Given the description of an element on the screen output the (x, y) to click on. 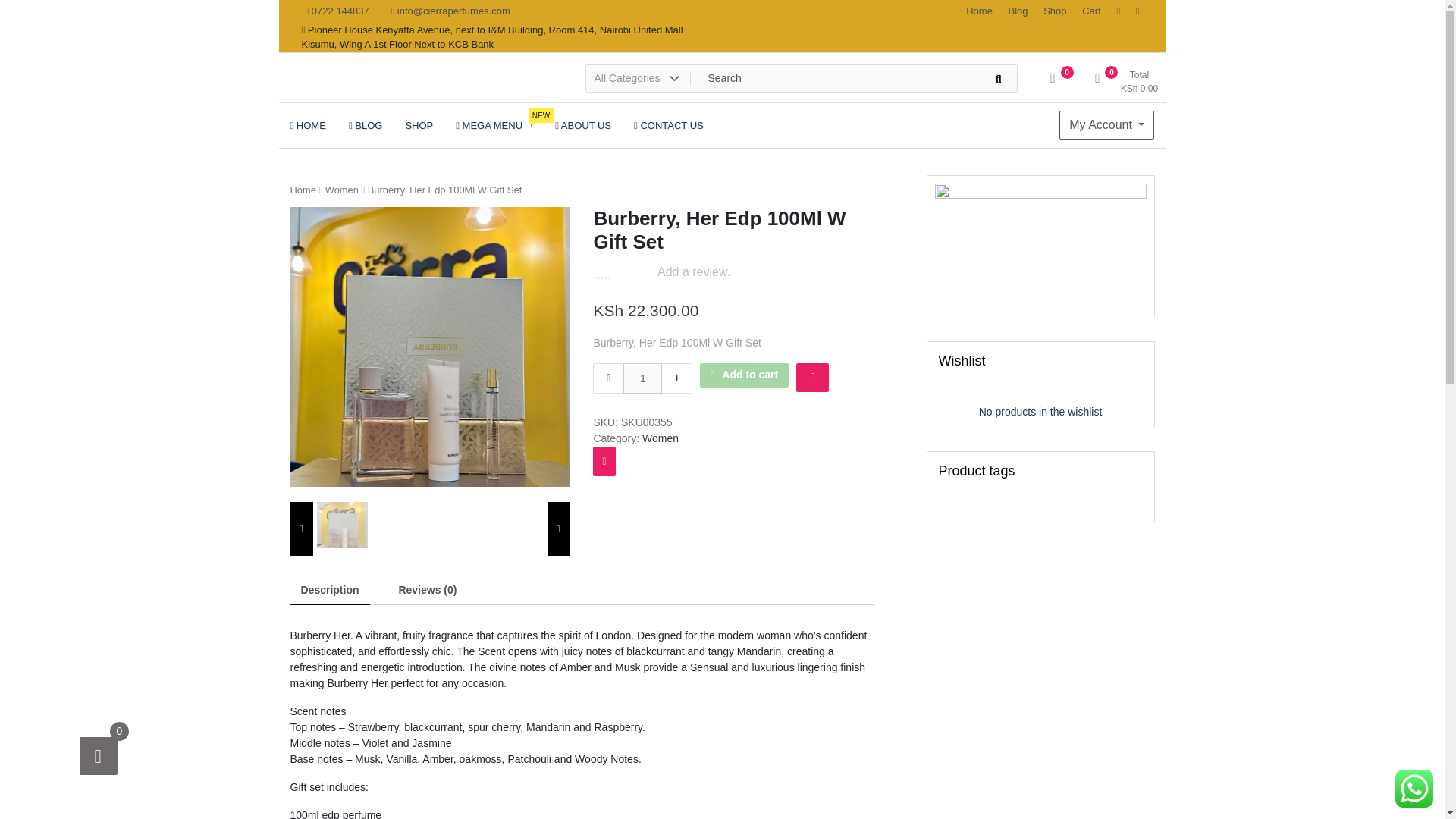
Cierra Perfumes (377, 94)
My Account (1106, 124)
1 (642, 378)
CONTACT US (668, 125)
SHOP (418, 125)
Home (302, 189)
0722 144837 (336, 11)
ABOUT US (583, 125)
Women (341, 189)
Burberry, Her Edp 100ml W Gift Set (342, 524)
